Given the description of an element on the screen output the (x, y) to click on. 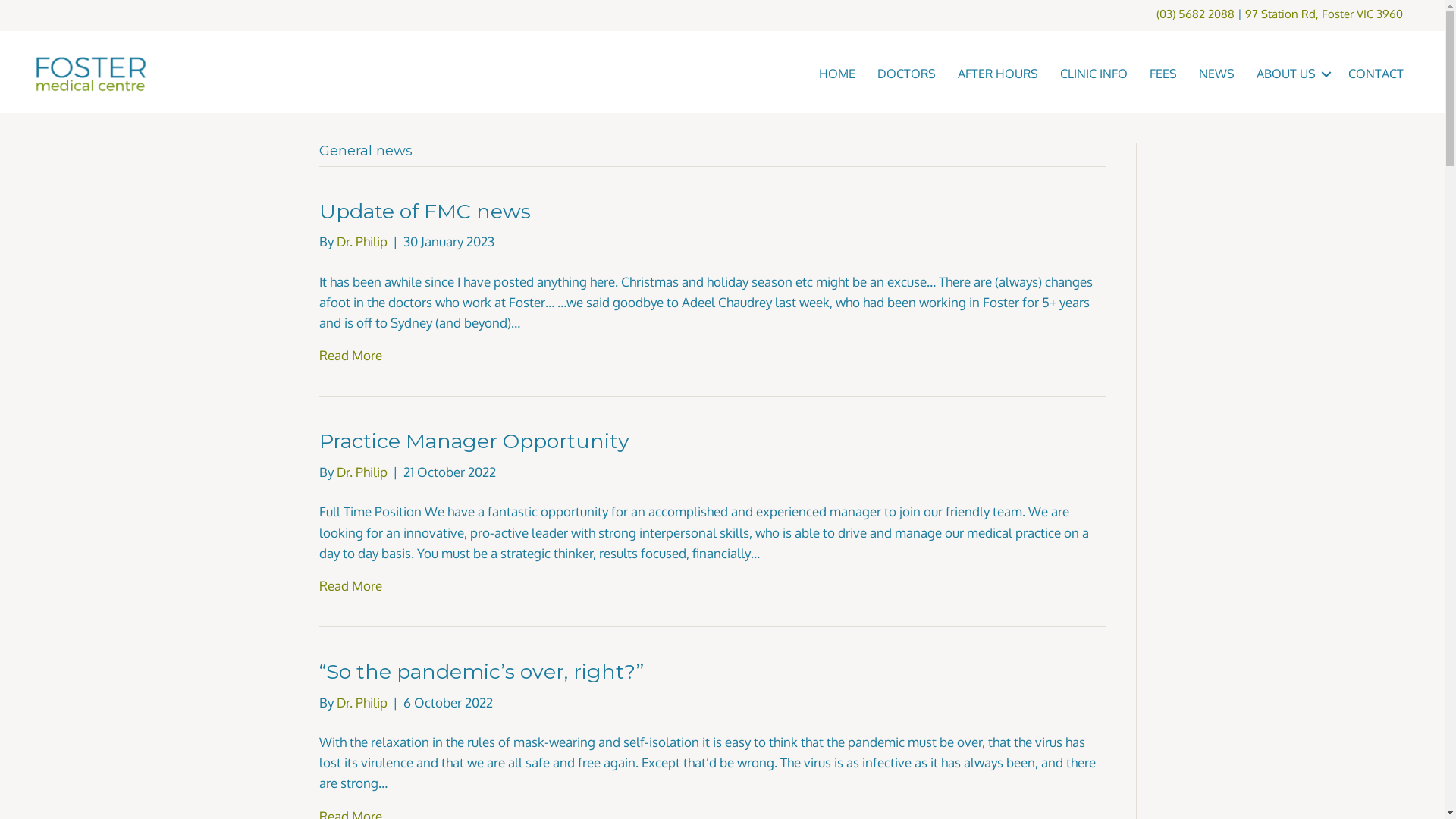
Dr. Philip Element type: text (361, 472)
Update of FMC news Element type: text (424, 210)
FEES Element type: text (1163, 73)
DOCTORS Element type: text (906, 73)
Read More Element type: text (350, 355)
Foster Medical logo 170px Element type: hover (90, 73)
Dr. Philip Element type: text (361, 241)
CONTACT Element type: text (1375, 73)
CLINIC INFO Element type: text (1093, 73)
Dr. Philip Element type: text (361, 702)
ABOUT US Element type: text (1290, 73)
AFTER HOURS Element type: text (997, 73)
Practice Manager Opportunity Element type: text (474, 440)
Read More Element type: text (350, 585)
97 Station Rd, Foster VIC 3960 Element type: text (1323, 13)
(03) 5682 2088 Element type: text (1195, 13)
NEWS Element type: text (1216, 73)
HOME Element type: text (837, 73)
